Given the description of an element on the screen output the (x, y) to click on. 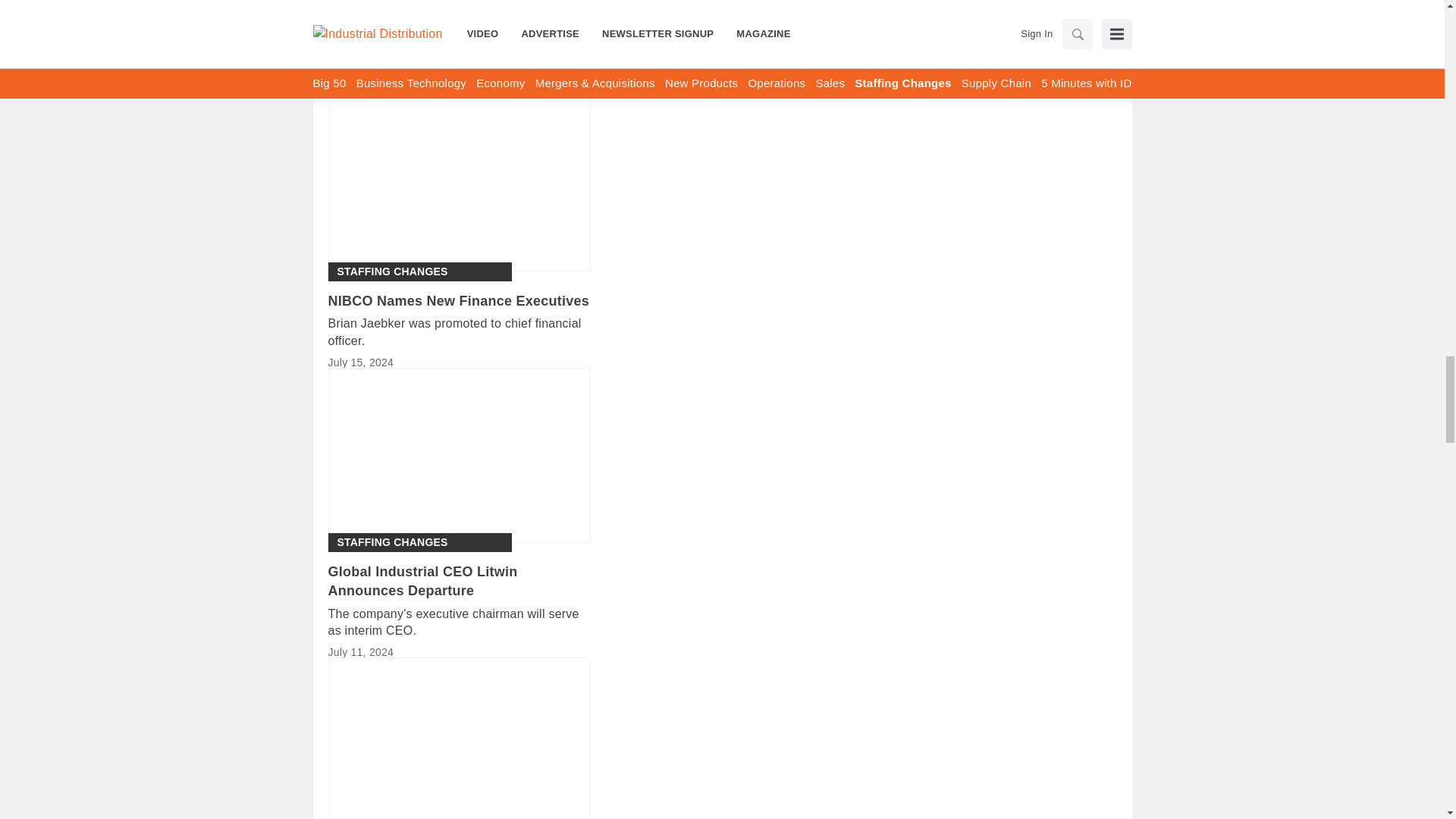
Staffing Changes (391, 542)
Staffing Changes (391, 271)
